Given the description of an element on the screen output the (x, y) to click on. 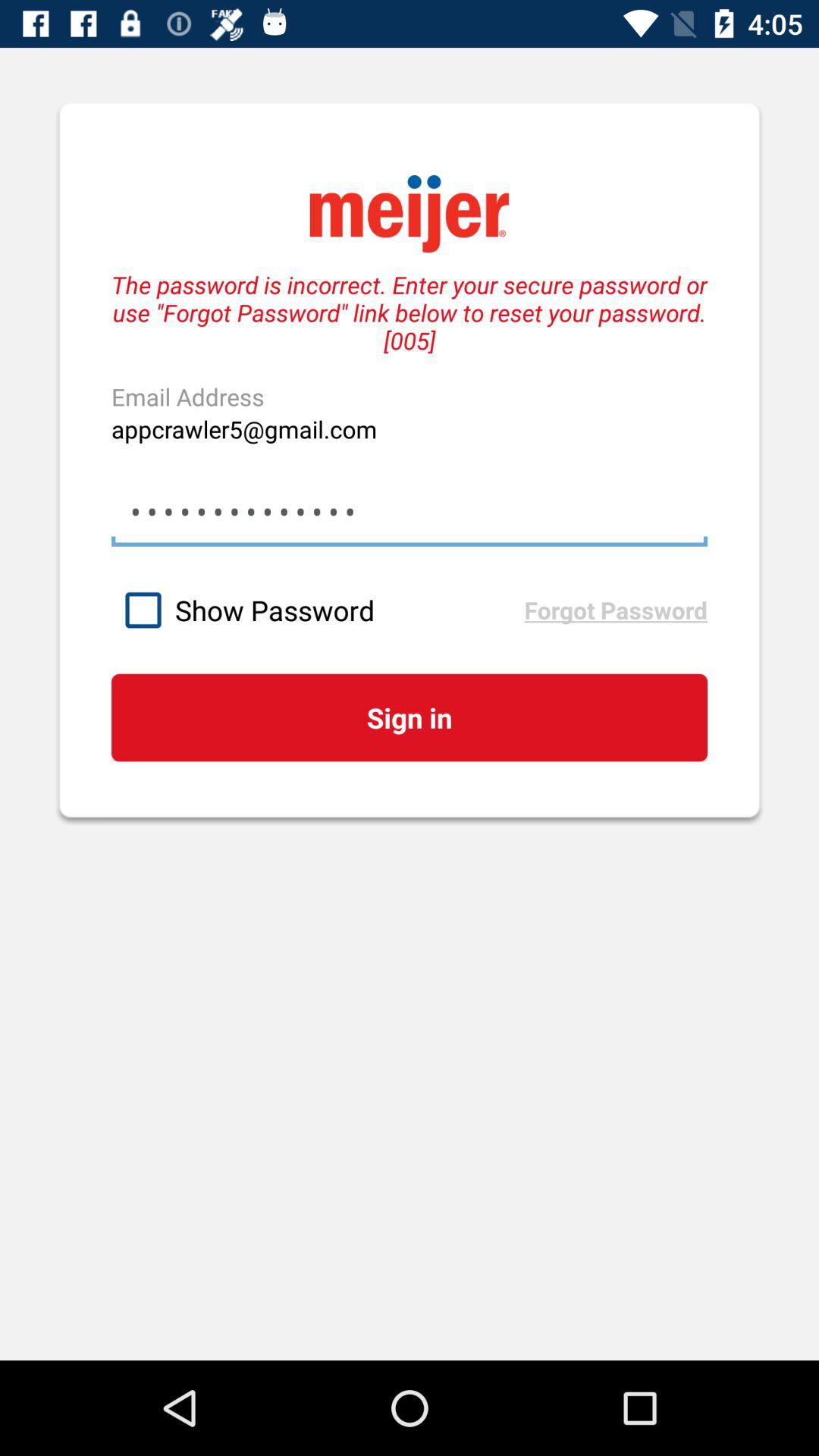
choose icon below appcrawler5@gmail.com item (409, 511)
